Given the description of an element on the screen output the (x, y) to click on. 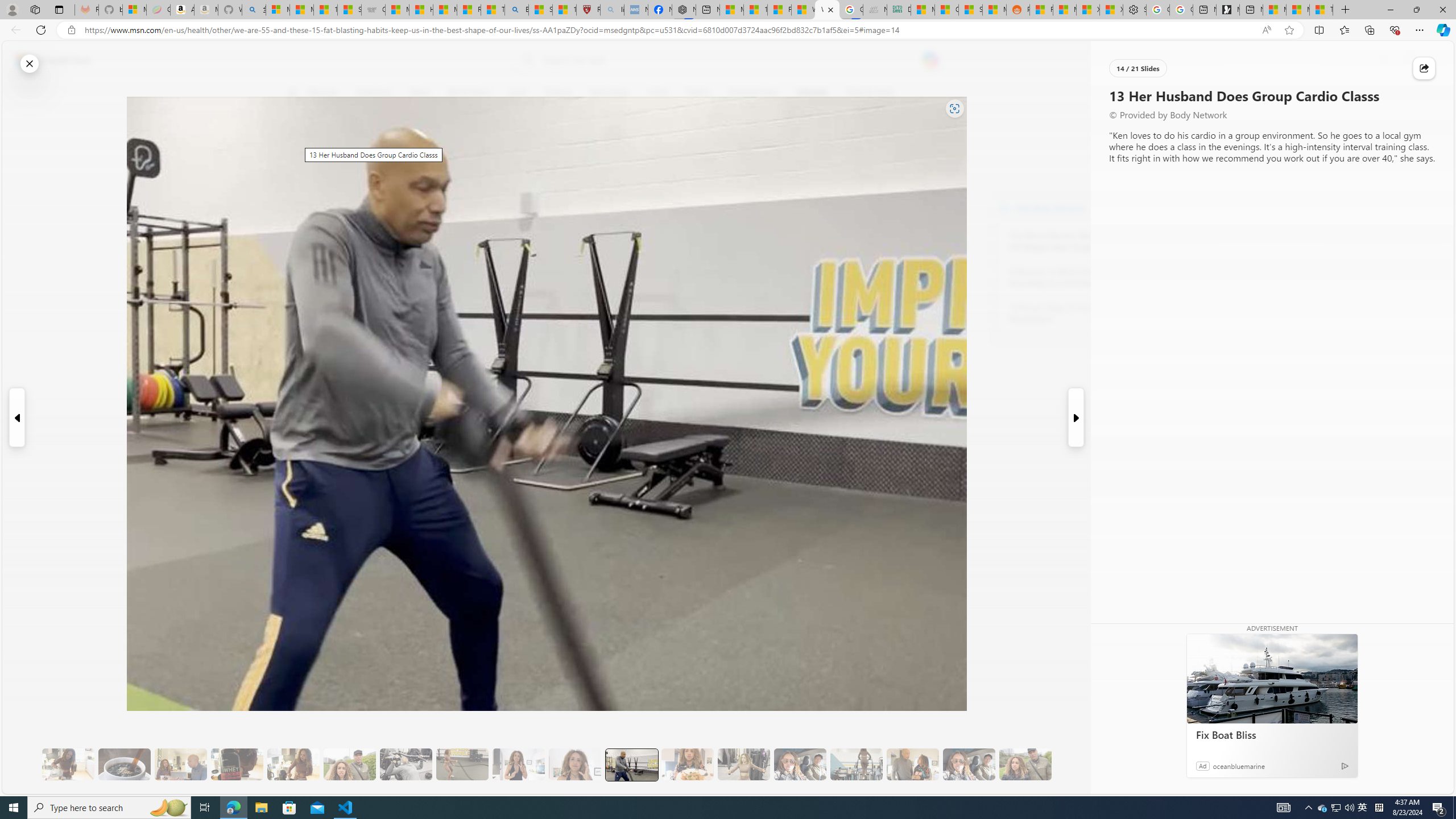
Food & Drink (865, 92)
20 Overall, It Will Improve Your Health (1024, 764)
6 (299, 170)
Follow (518, 146)
